Given the description of an element on the screen output the (x, y) to click on. 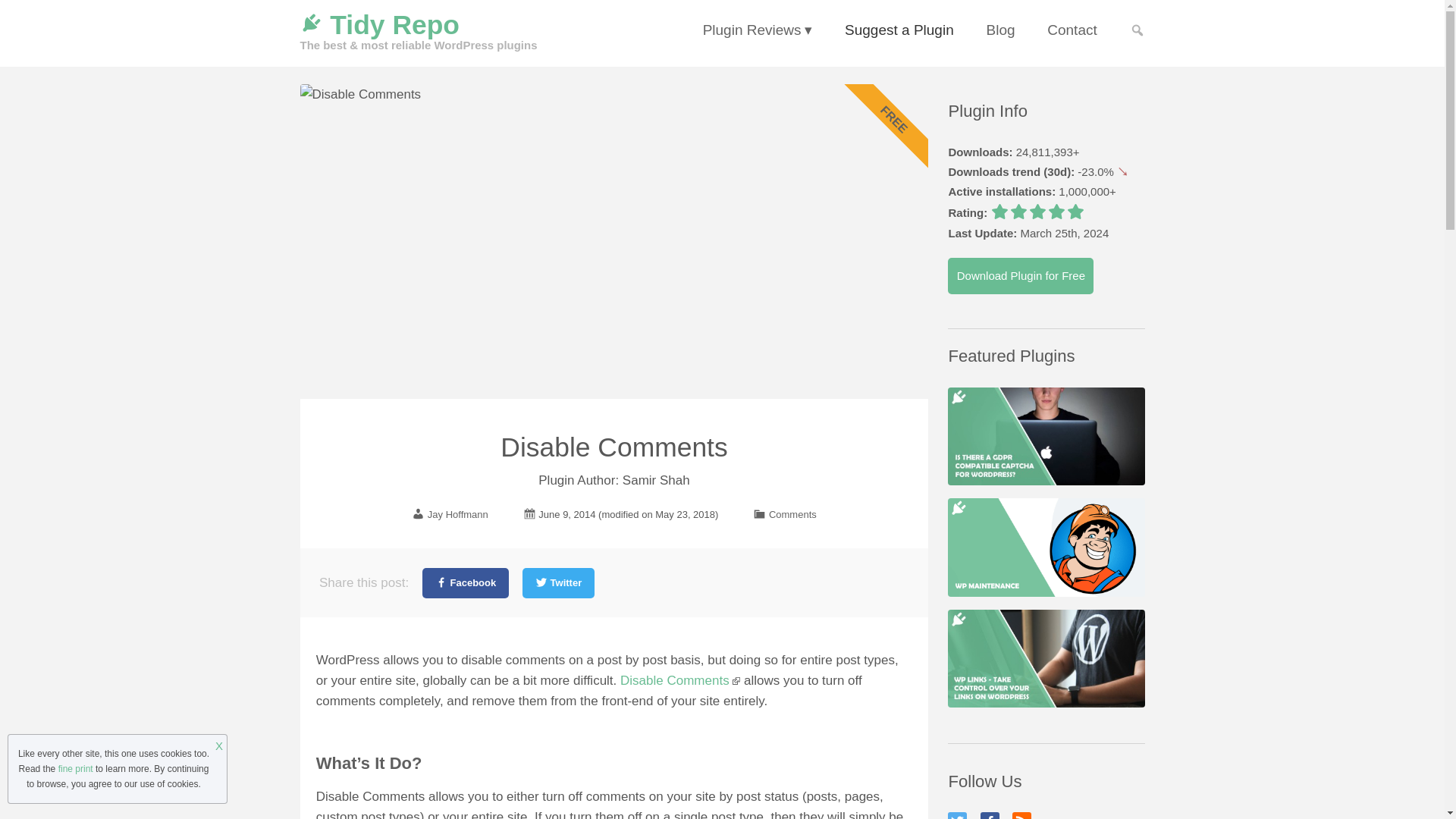
Jay Hoffmann (457, 514)
Suggest a Plugin (898, 29)
Search (1131, 26)
Contact (1071, 29)
Disable Comments (679, 680)
Twitter (558, 583)
Facebook (465, 583)
Tidy Repo (395, 24)
Comments (792, 514)
Blog (999, 29)
